Given the description of an element on the screen output the (x, y) to click on. 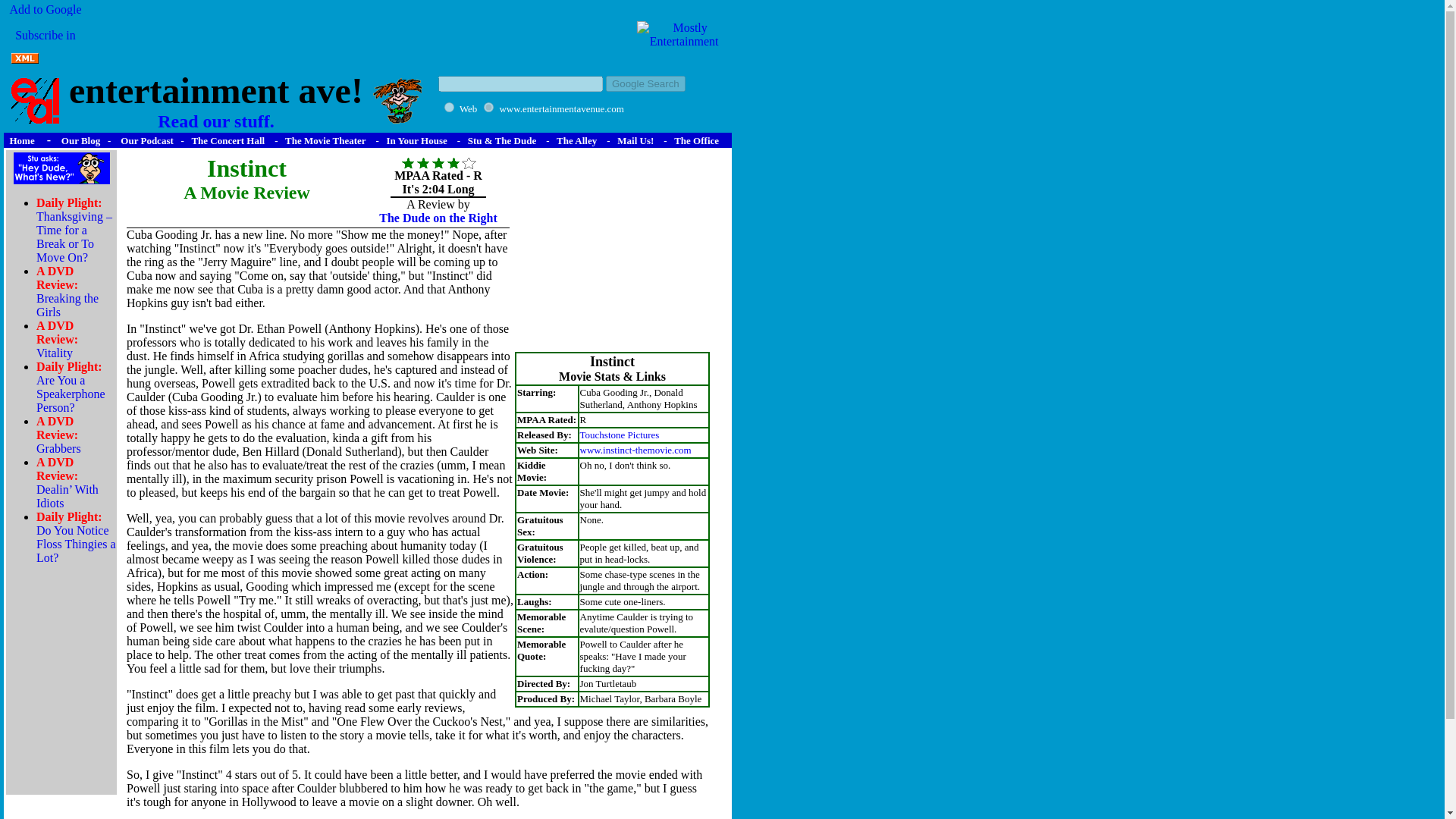
Touchstone Pictures (619, 433)
The Movie Theater (325, 140)
Google Search (645, 83)
The Alley (215, 110)
Google Search (576, 140)
Search the Web (645, 83)
  Our Podcast (468, 107)
The Dude on the Right (144, 140)
Subscribe to my feed (437, 217)
Subscribe to my feed (60, 59)
www.instinct-themovie.com (44, 48)
Subscribe to my feed (635, 449)
The Concert Hall (25, 59)
Home (227, 140)
